Given the description of an element on the screen output the (x, y) to click on. 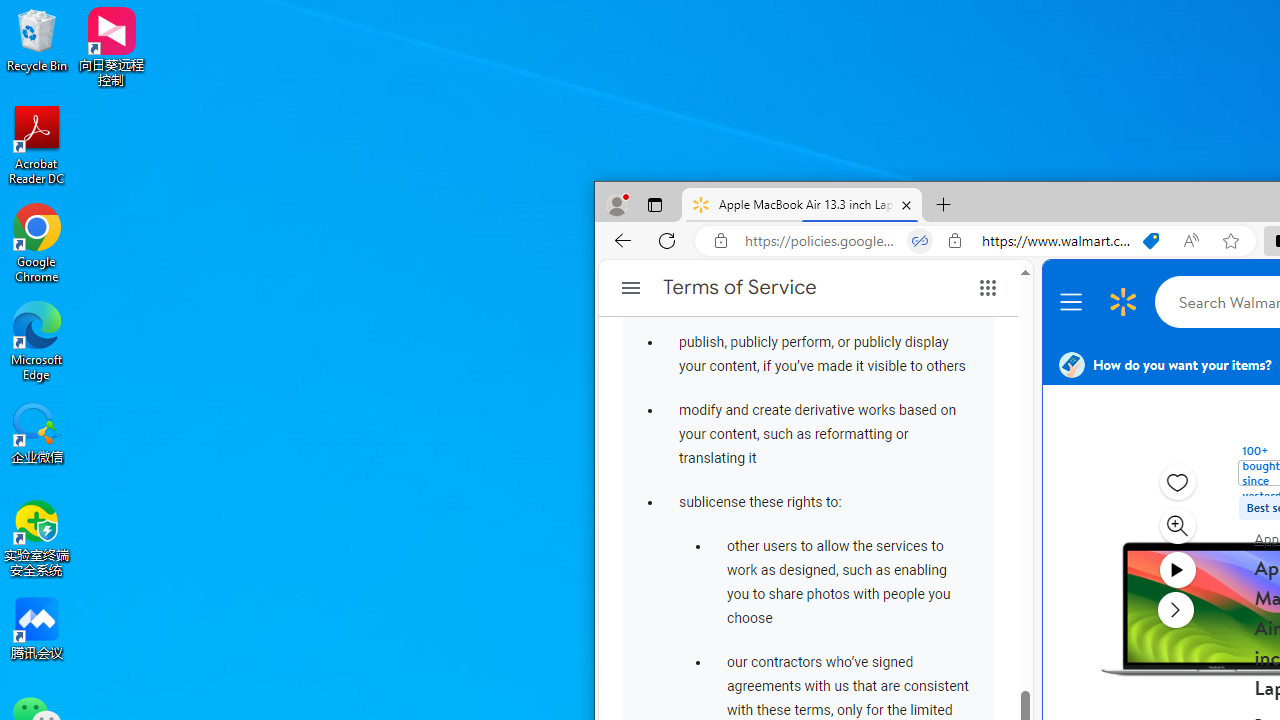
This site has coupons! Shopping in Microsoft Edge, 7 (1151, 241)
Walmart Homepage (1123, 301)
Google Chrome (37, 242)
next media item (1175, 609)
Menu (1074, 301)
Microsoft Edge (37, 340)
